Given the description of an element on the screen output the (x, y) to click on. 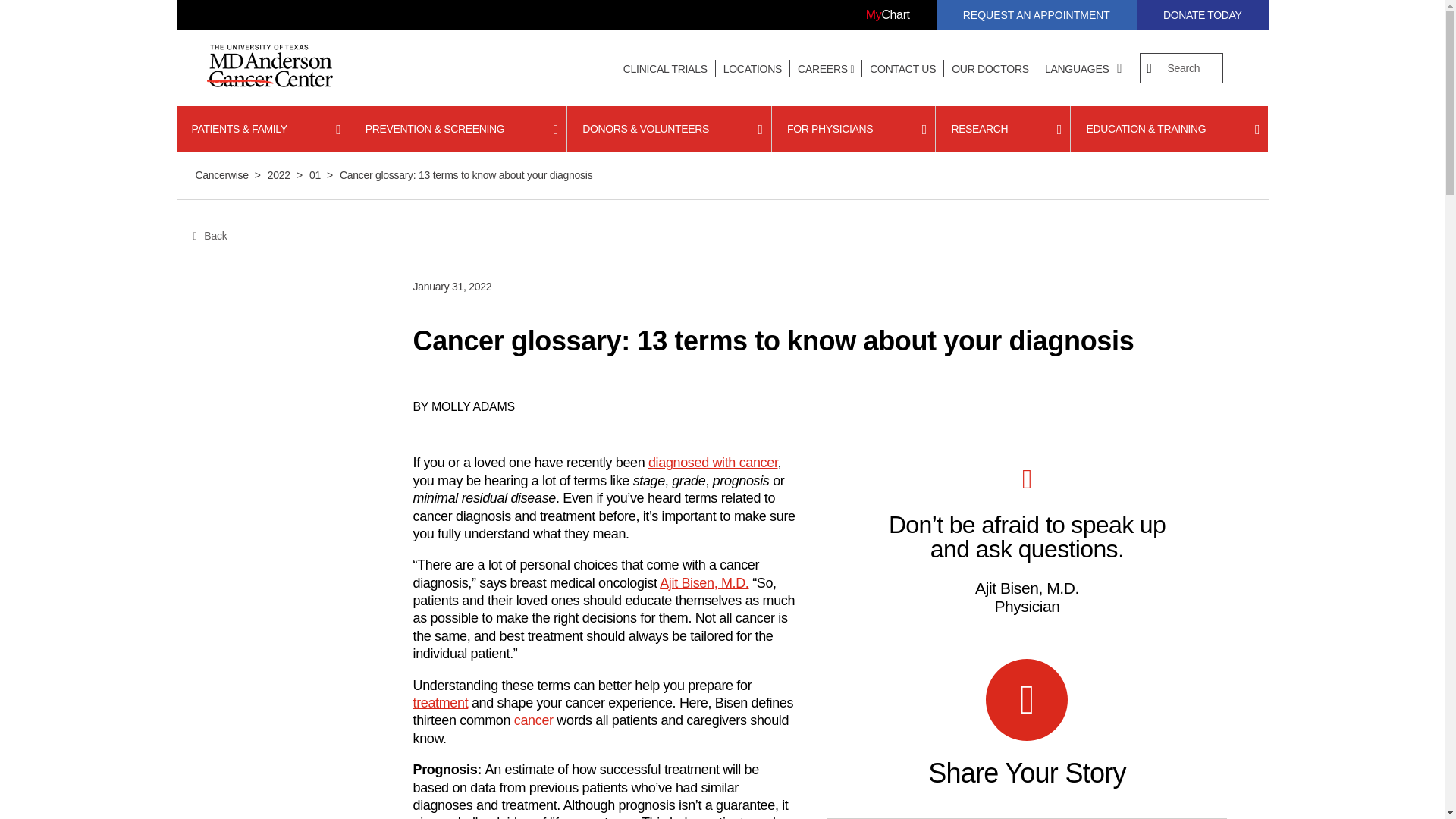
CLINICAL TRIALS (664, 69)
 Opens a new window (888, 15)
LOCATIONS (752, 69)
MyChart (888, 15)
CAREERS (825, 69)
OUR DOCTORS (989, 69)
CONTACT US (902, 69)
